Given the description of an element on the screen output the (x, y) to click on. 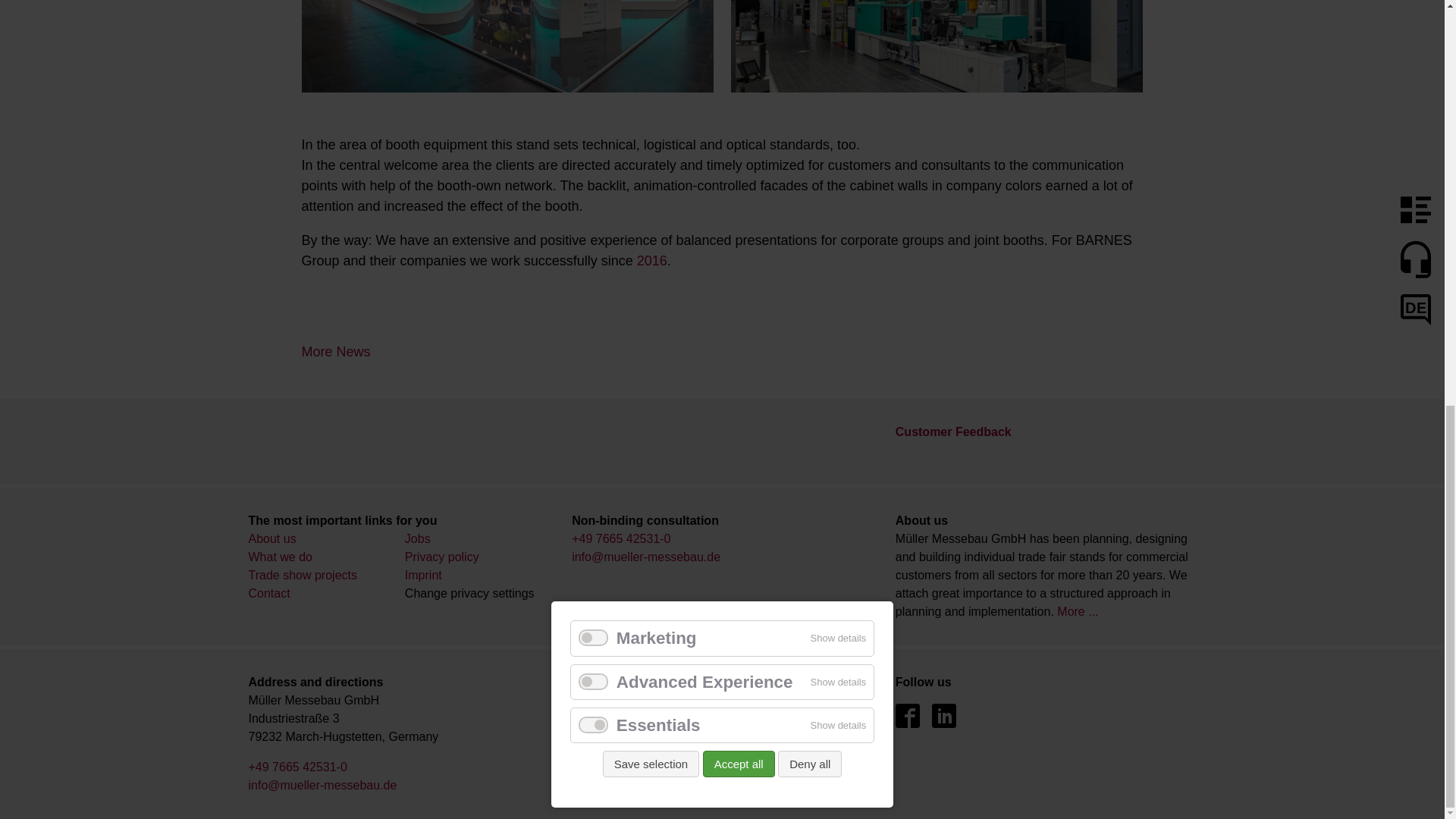
More News (336, 351)
2016 (651, 260)
What we do (280, 556)
Change privacy settings (469, 593)
Customer Feedback (953, 431)
Trade show projects (302, 574)
Contact (268, 593)
About us (272, 538)
More ... (1077, 611)
2016 (651, 260)
